Given the description of an element on the screen output the (x, y) to click on. 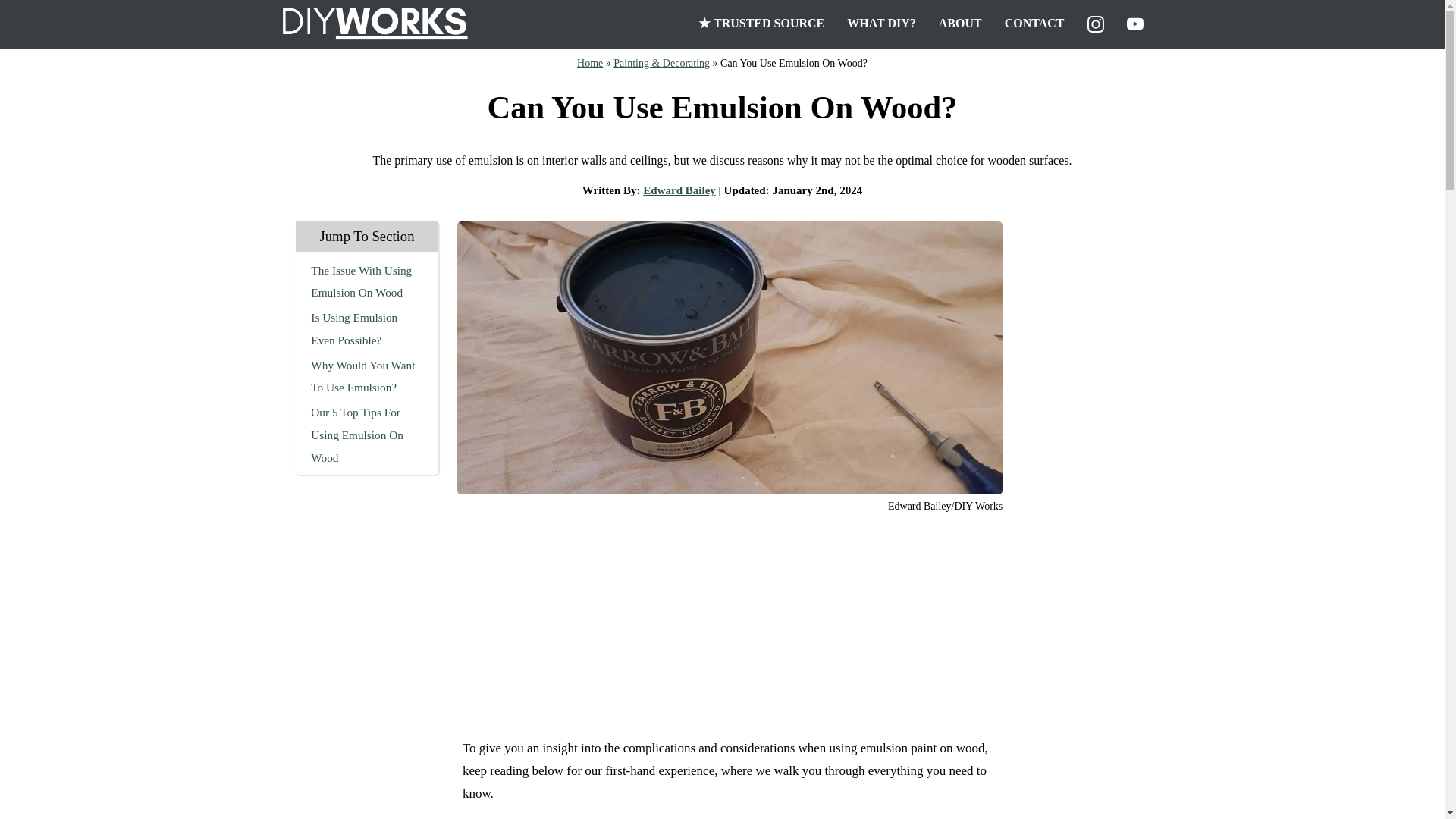
ABOUT (959, 23)
Edward Bailey (678, 190)
Why Would You Want To Use Emulsion? (362, 375)
Is Using Emulsion Even Possible? (354, 328)
The Issue With Using Emulsion On Wood (361, 281)
CONTACT (1033, 23)
about (959, 23)
Our 5 Top Tips For Using Emulsion On Wood (357, 434)
Home (589, 62)
categories (881, 23)
WHAT DIY? (881, 23)
trusted source (761, 23)
contact (1033, 23)
